Given the description of an element on the screen output the (x, y) to click on. 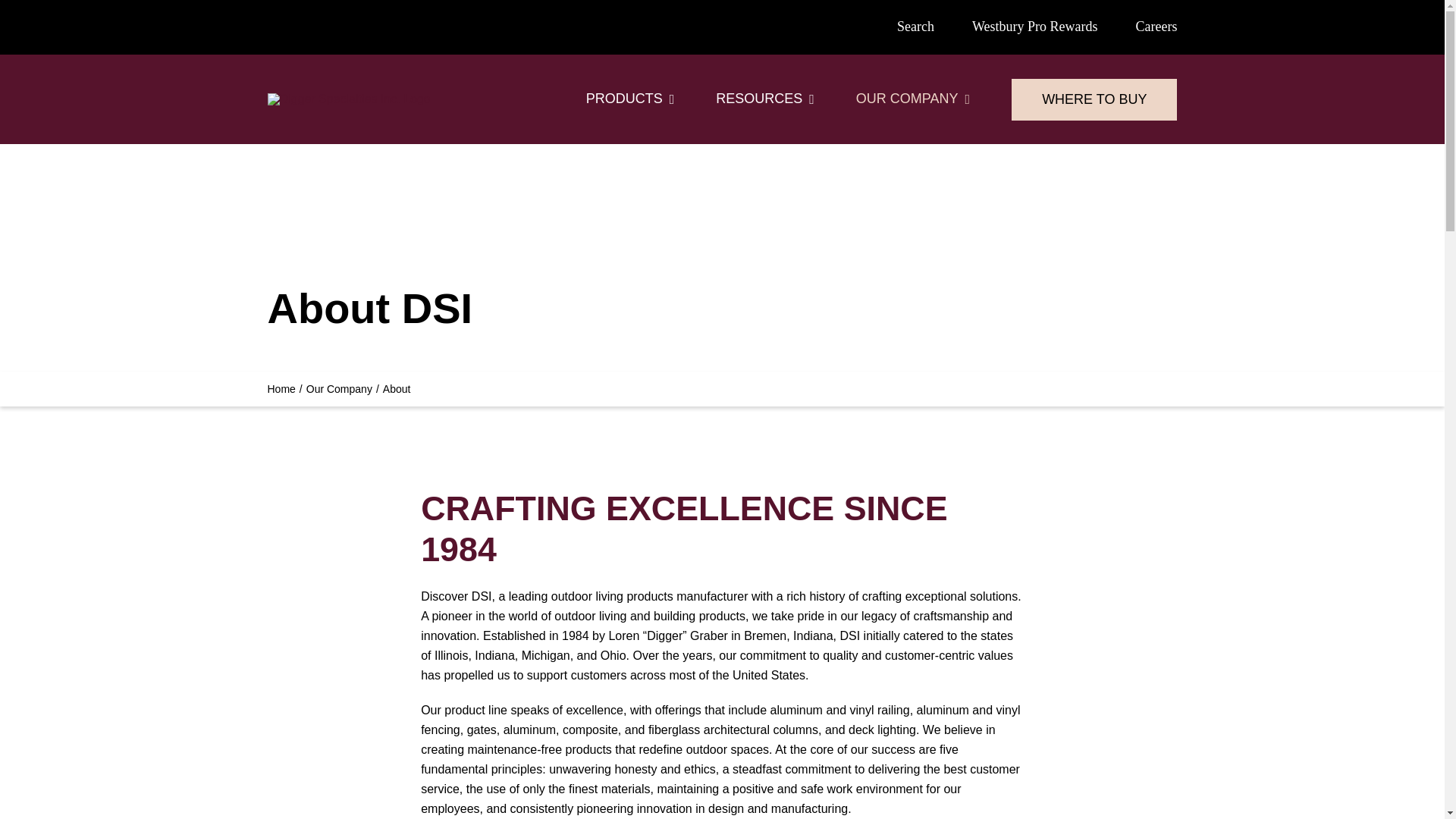
PRODUCTS (630, 99)
WHERE TO BUY (1093, 99)
OUR COMPANY (912, 99)
Resources (764, 99)
RESOURCES (764, 99)
Products (630, 99)
Our Company (912, 99)
Westbury Pro Rewards (1034, 27)
